Given the description of an element on the screen output the (x, y) to click on. 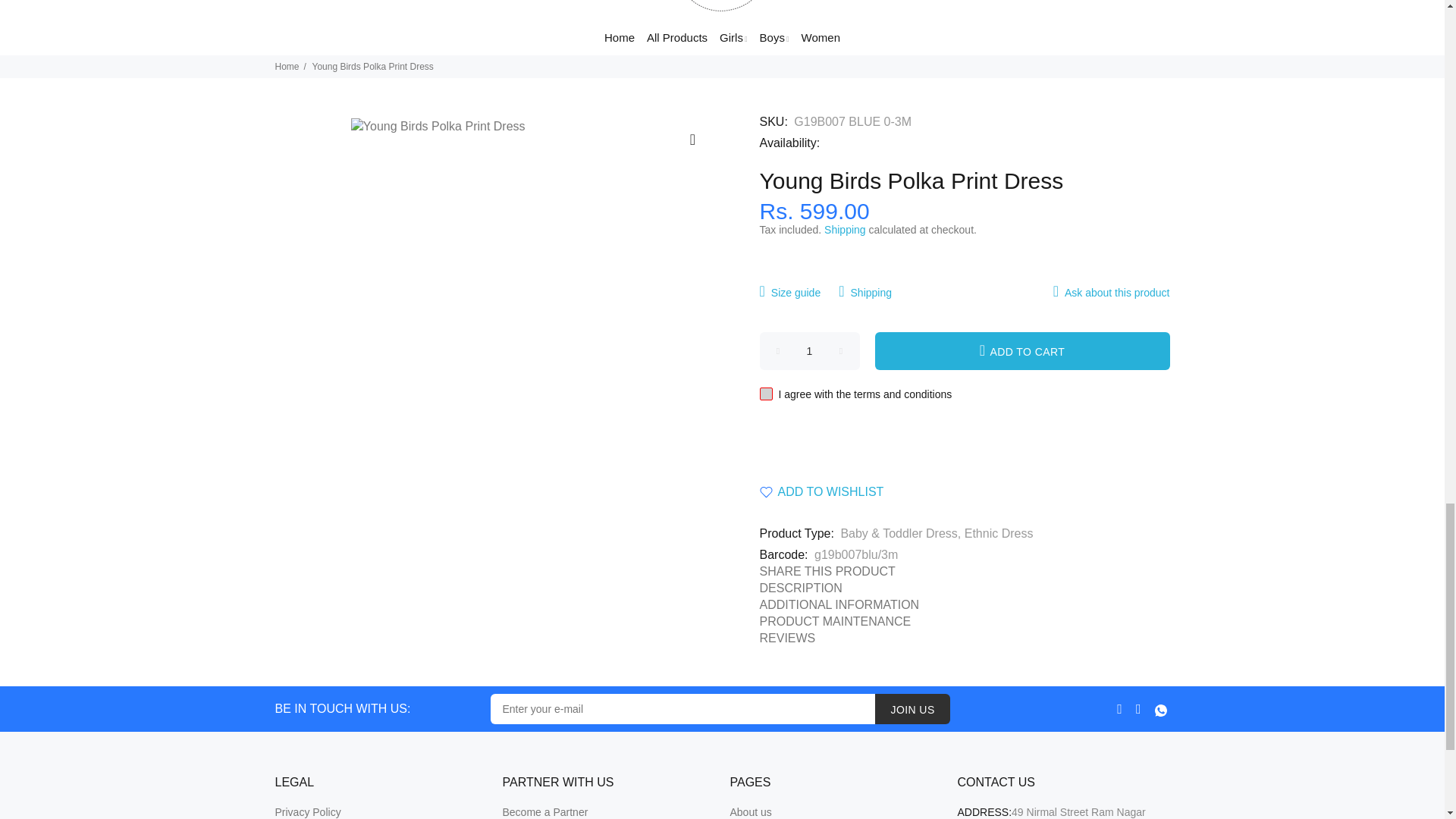
Home (617, 40)
Girls (732, 40)
1 (810, 351)
All Products (676, 40)
Boys (774, 40)
